Given the description of an element on the screen output the (x, y) to click on. 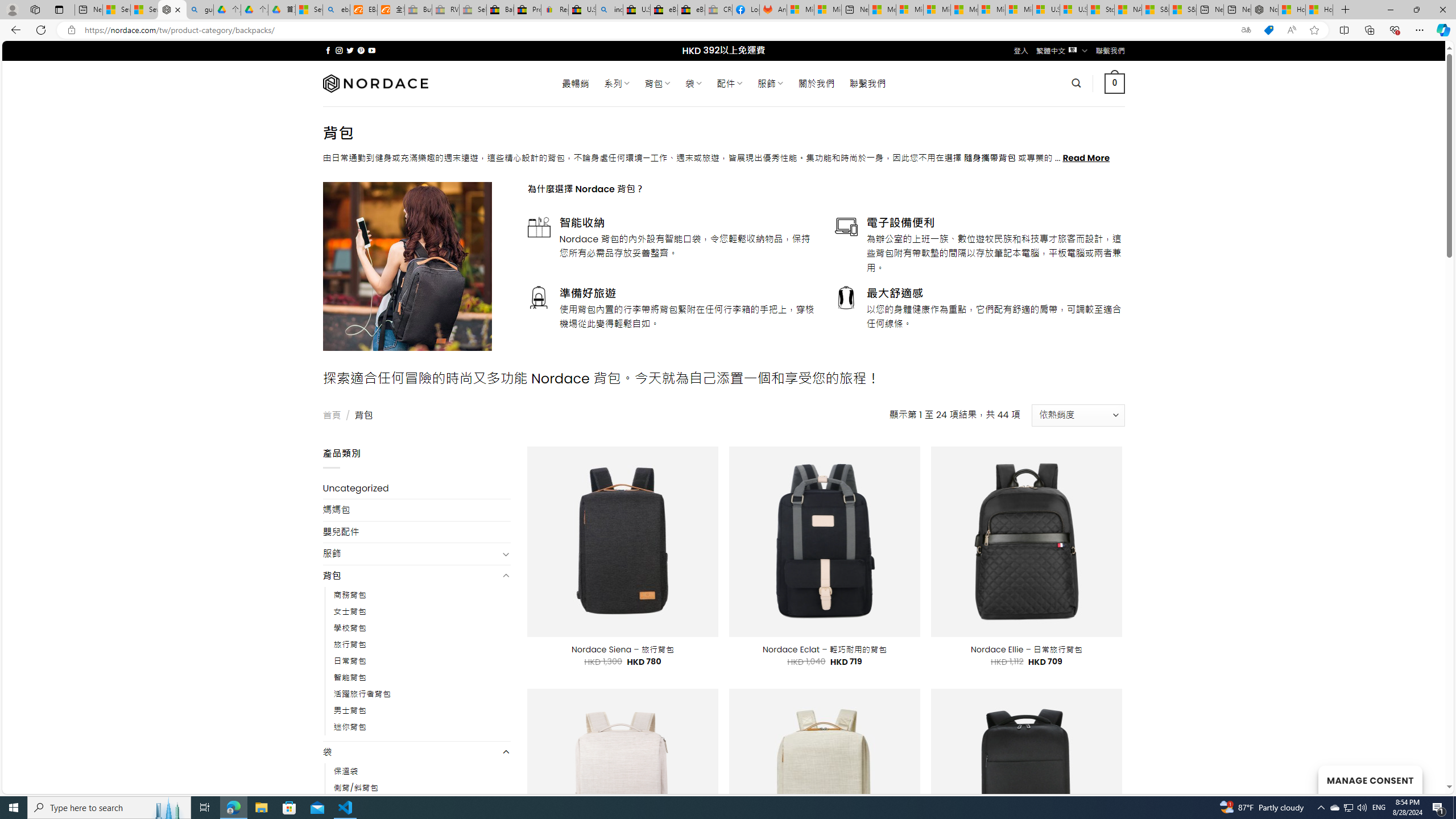
  0   (1115, 83)
Follow on Facebook (327, 50)
How to Use a Monitor With Your Closed Laptop (1319, 9)
Follow on Instagram (338, 50)
